Given the description of an element on the screen output the (x, y) to click on. 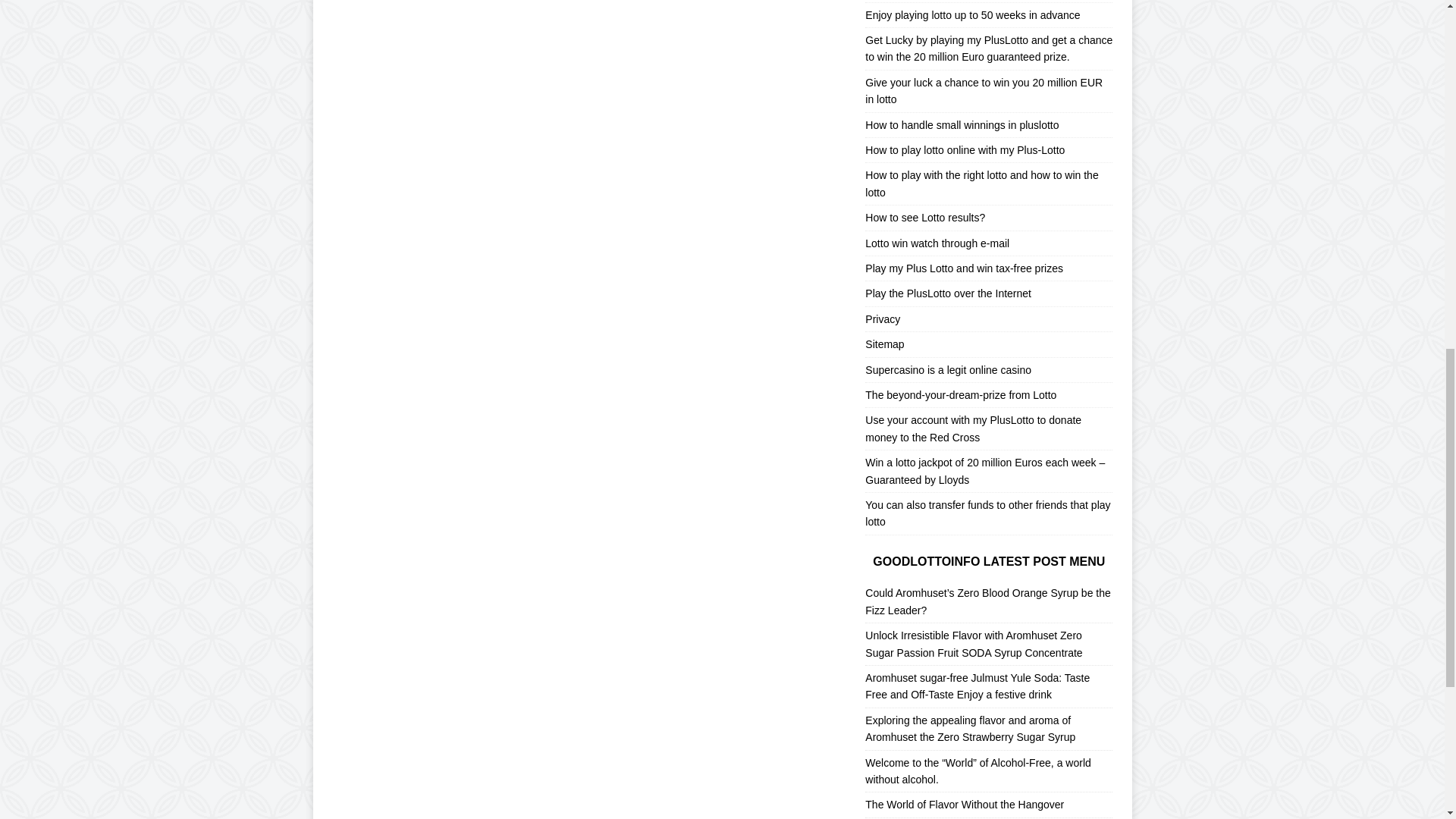
Play my Plus Lotto and win tax-free prizes (988, 268)
Sitemap (988, 344)
How to handle small winnings in pluslotto (988, 125)
How to play with the right lotto and how to win the lotto (988, 183)
The beyond-your-dream-prize from Lotto (988, 395)
Lotto win watch through e-mail (988, 243)
Enjoy playing lotto up to 50 weeks in advance (988, 15)
Give your luck a chance to win you 20 million EUR in lotto (988, 91)
